Given the description of an element on the screen output the (x, y) to click on. 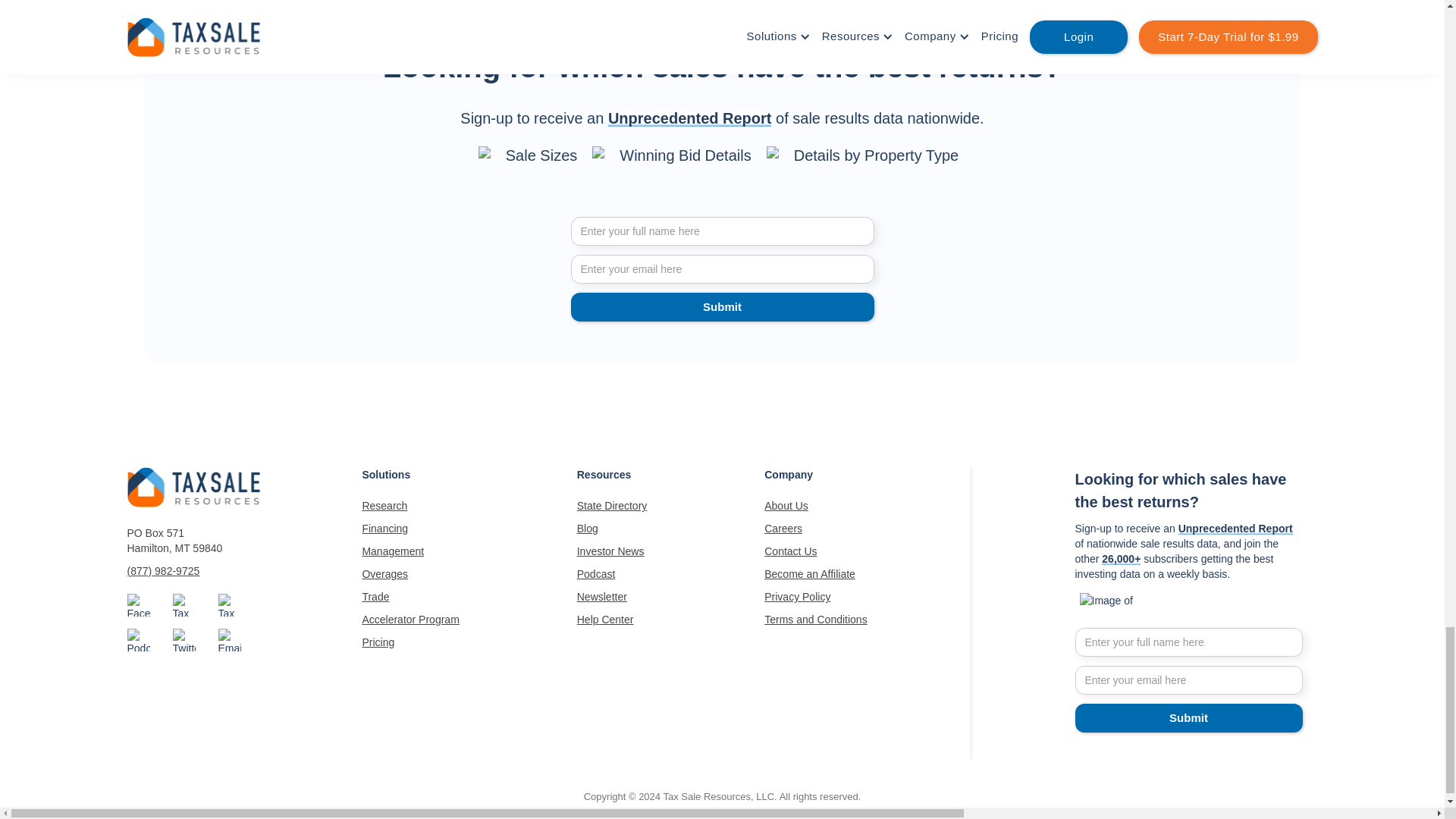
Submit (721, 306)
Submit (1189, 717)
